Given the description of an element on the screen output the (x, y) to click on. 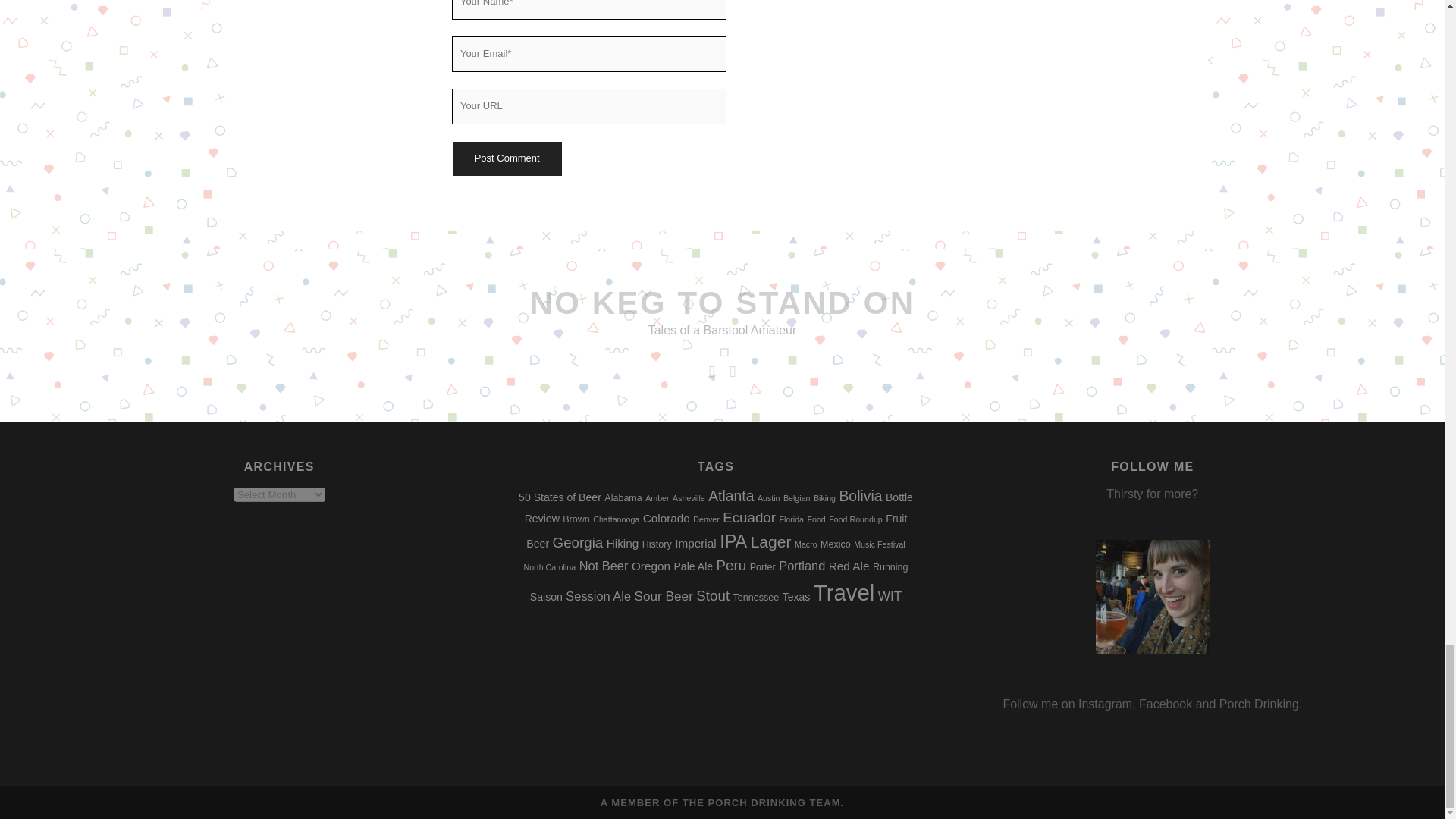
Post Comment (505, 158)
Chattanooga (615, 519)
50 States of Beer (559, 497)
Brown (575, 519)
Asheville (688, 497)
Bottle Review (718, 507)
Belgian (796, 497)
Amber (656, 497)
Atlanta (730, 495)
Austin (768, 497)
NO KEG TO STAND ON (721, 303)
Biking (824, 497)
Bolivia (860, 495)
Alabama (623, 498)
Post Comment (505, 158)
